Given the description of an element on the screen output the (x, y) to click on. 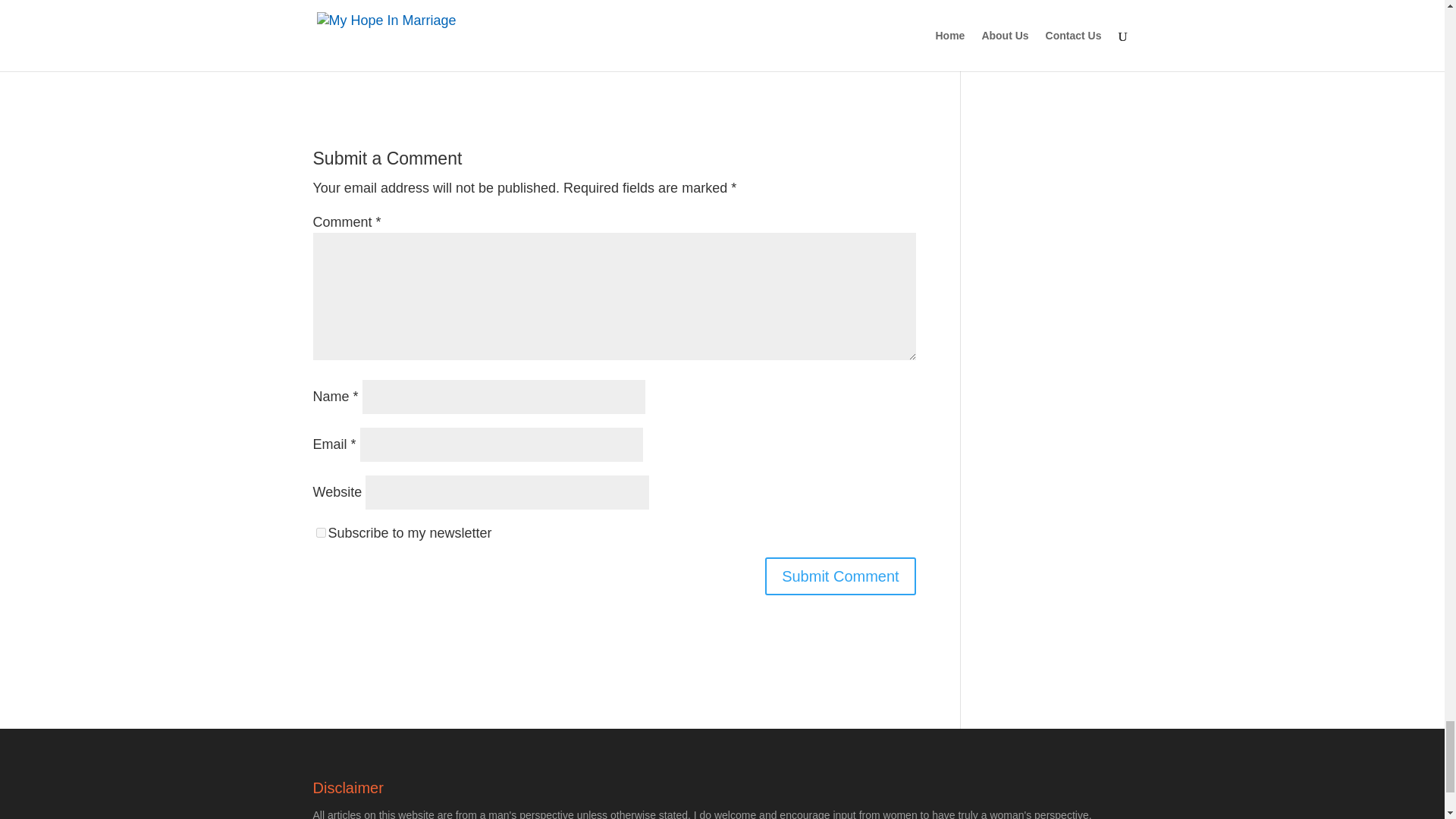
Submit Comment (840, 576)
Submit Comment (840, 576)
yes (319, 532)
